Given the description of an element on the screen output the (x, y) to click on. 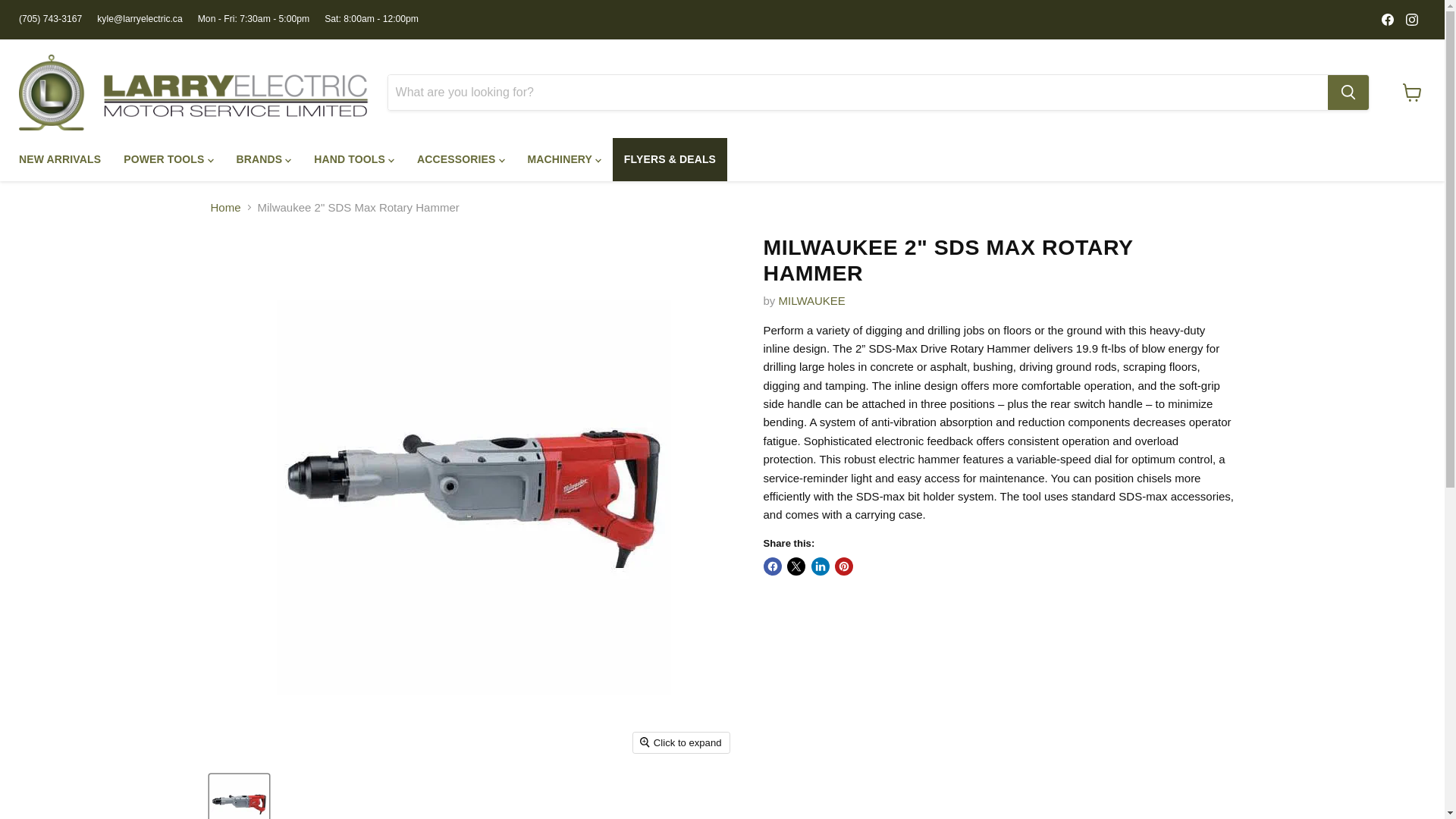
Find us on Facebook (1387, 19)
Instagram (1411, 19)
View cart (1411, 92)
Find us on Instagram (1411, 19)
Facebook (1387, 19)
Mon - Fri: 7:30am - 5:00pm (253, 18)
MILWAUKEE (811, 300)
Sat: 8:00am - 12:00pm (371, 18)
NEW ARRIVALS (59, 159)
